Given the description of an element on the screen output the (x, y) to click on. 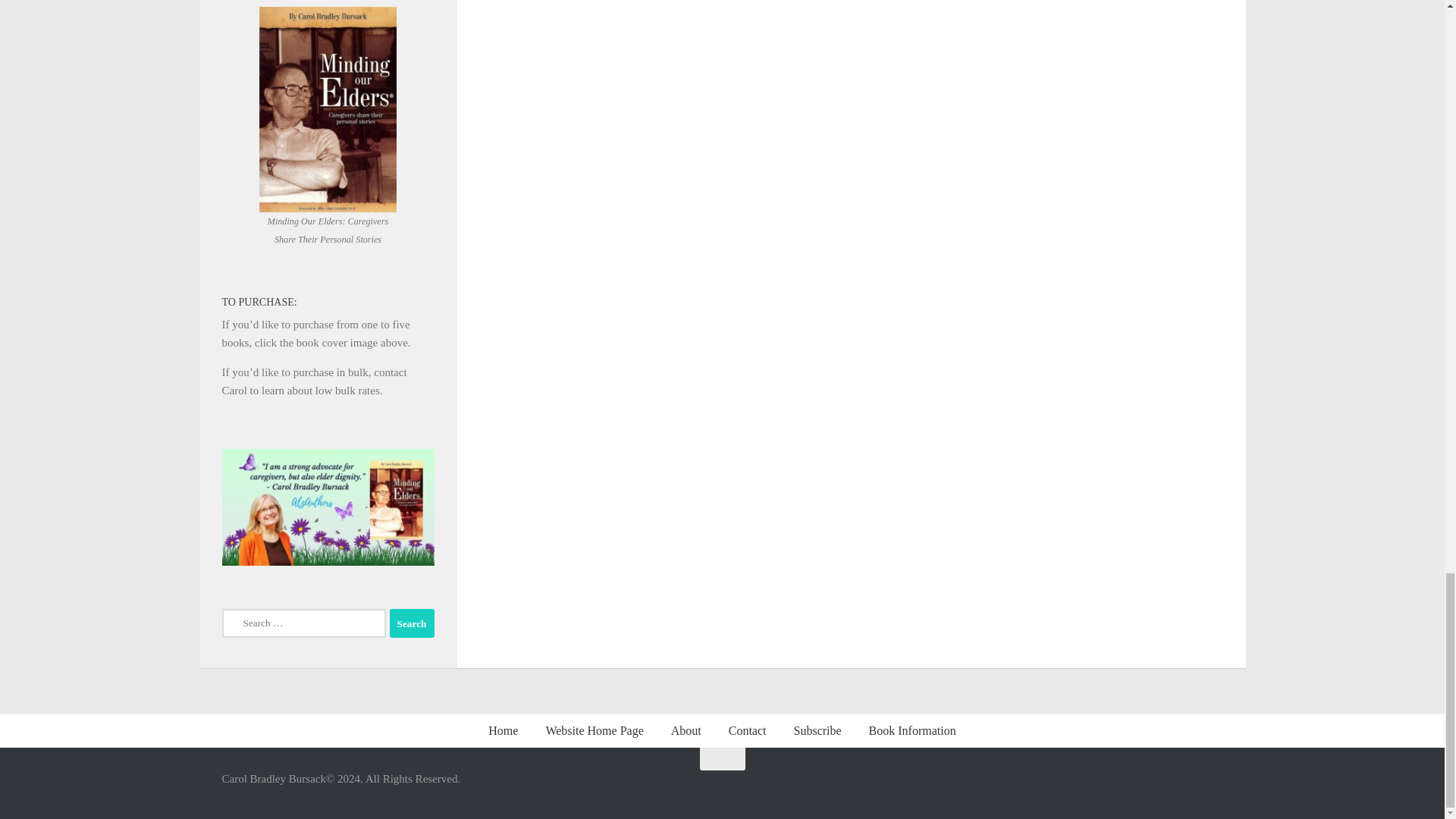
Search (411, 623)
Search (411, 623)
